Given the description of an element on the screen output the (x, y) to click on. 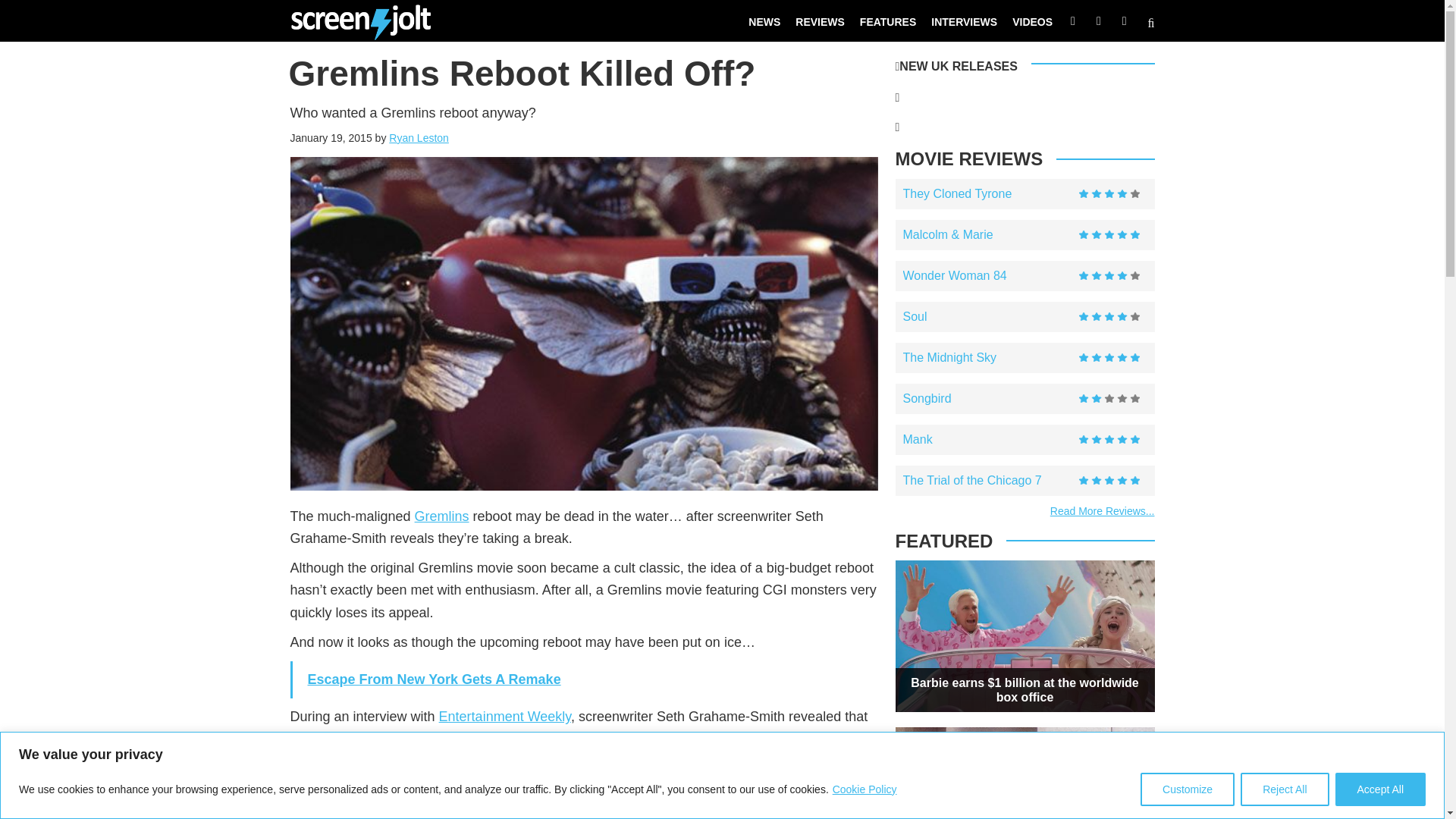
FEATURES (887, 20)
4 Stars (1108, 275)
5 Stars (1108, 480)
5 Stars (1108, 234)
INTERVIEWS (963, 20)
Accept All (1380, 788)
5 Stars (1108, 357)
Cookie Policy (864, 789)
REVIEWS (819, 20)
